Given the description of an element on the screen output the (x, y) to click on. 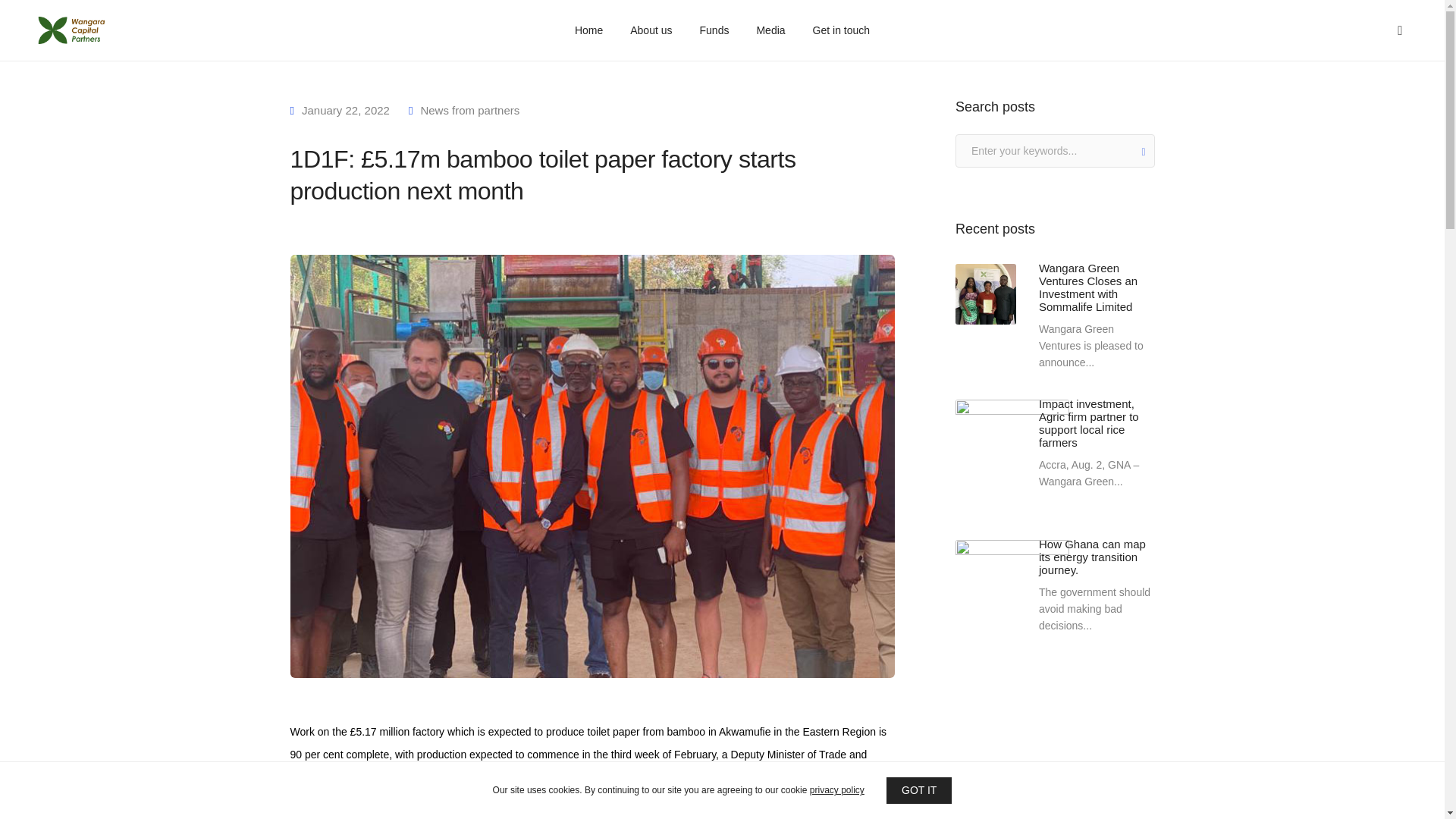
News from partners (469, 110)
Get in touch (841, 30)
How Ghana can map its energy transition journey. (1096, 556)
